Given the description of an element on the screen output the (x, y) to click on. 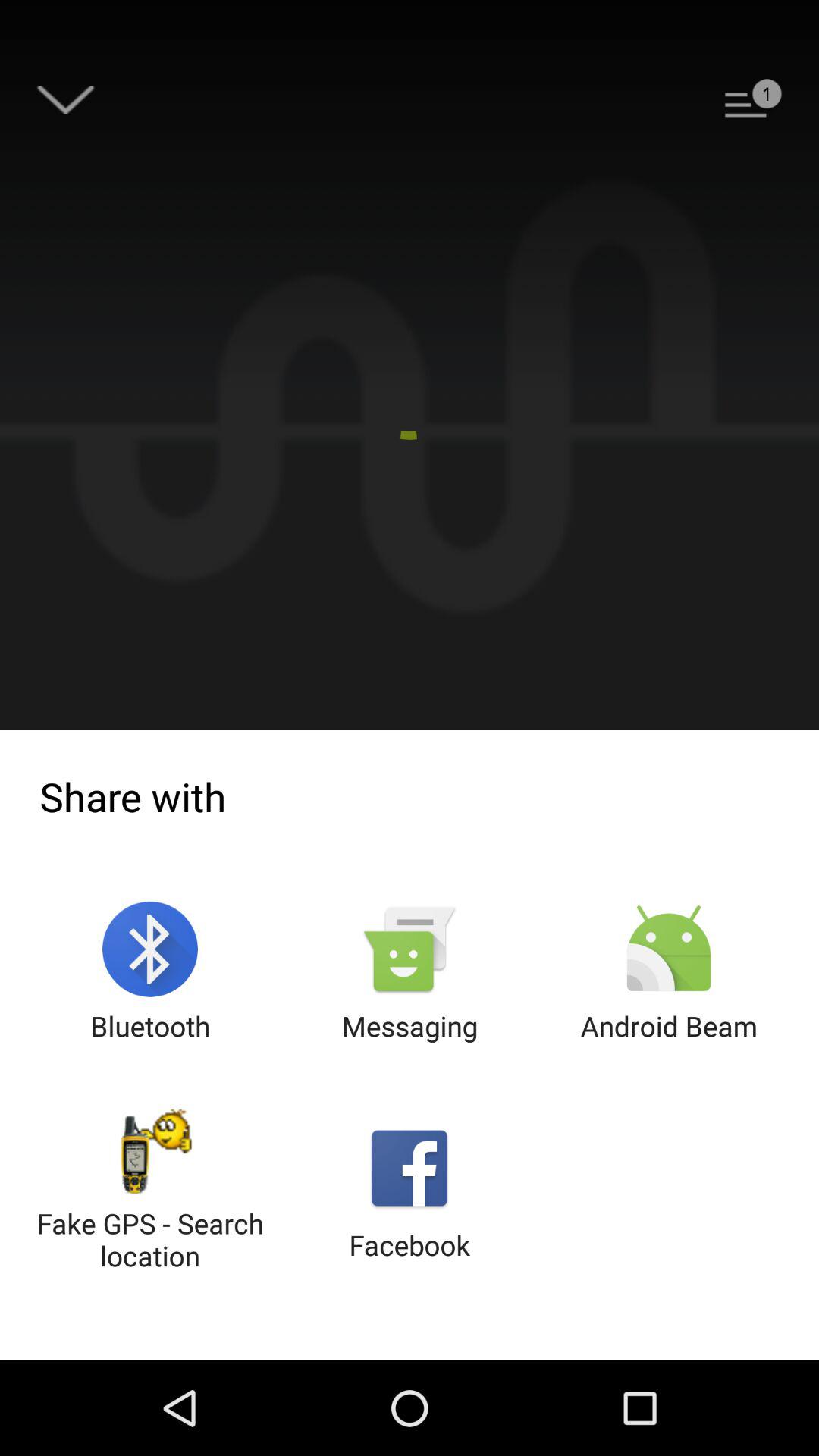
launch the icon to the right of fake gps search button (409, 1191)
